Given the description of an element on the screen output the (x, y) to click on. 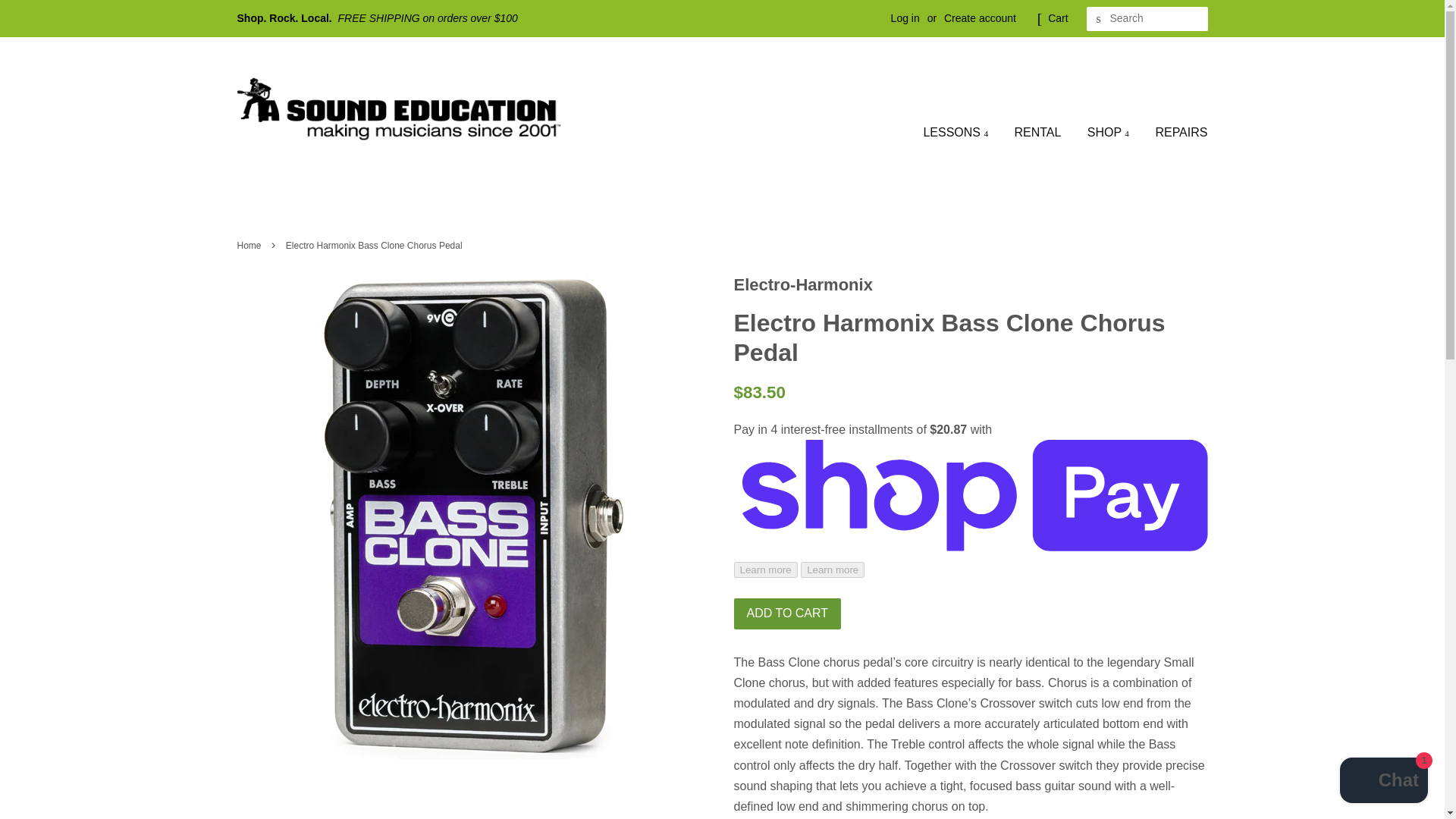
RENTAL (1037, 131)
LESSONS (960, 131)
Create account (979, 18)
Log in (905, 18)
SHOP (1107, 131)
SEARCH (1097, 18)
Shopify online store chat (1383, 781)
Back to the frontpage (249, 245)
Cart (1057, 18)
